Given the description of an element on the screen output the (x, y) to click on. 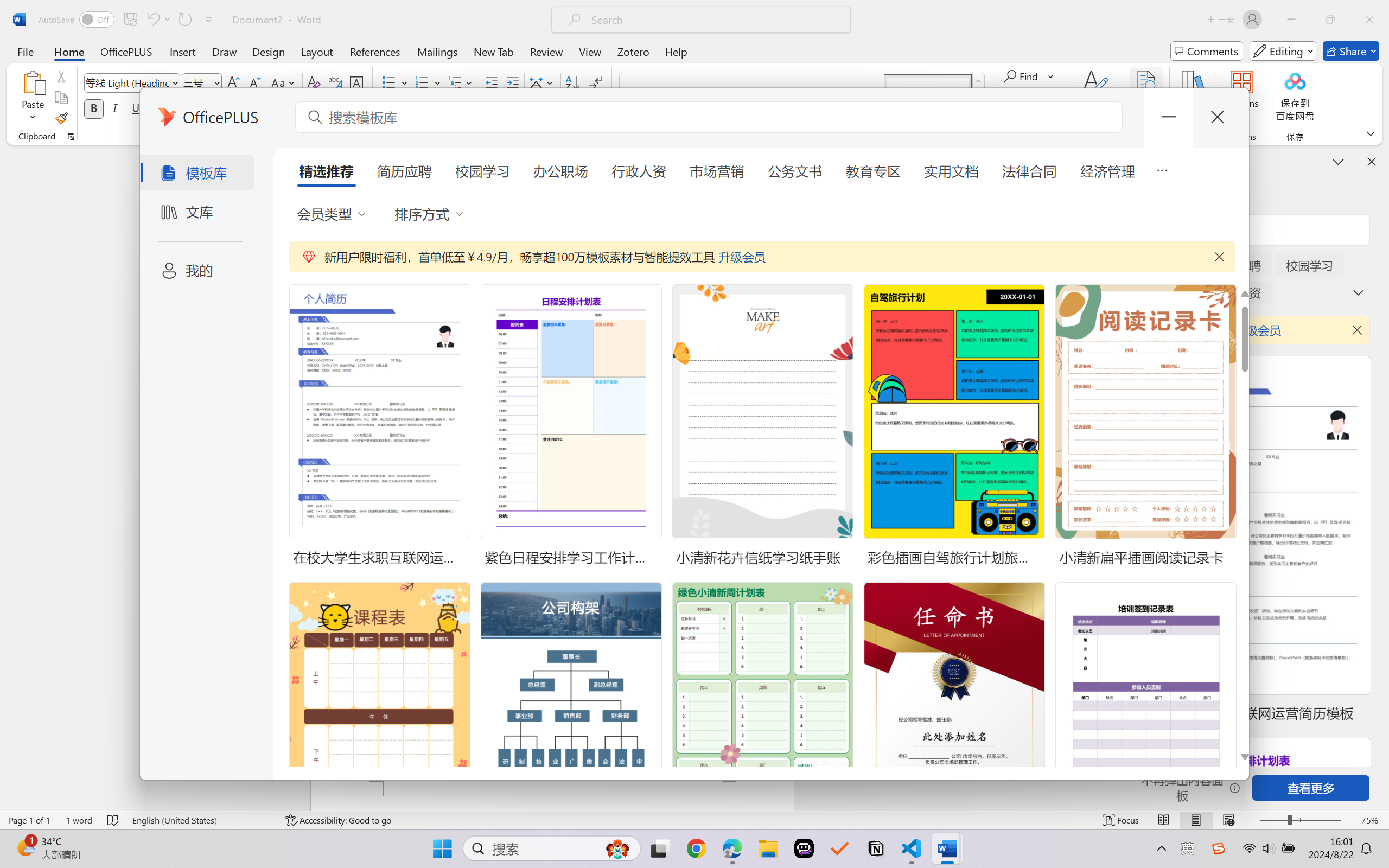
Draw (224, 51)
References (375, 51)
Close (1369, 19)
Zotero (632, 51)
Spelling and Grammar Check No Errors (113, 819)
Zoom In (1348, 819)
Cut (60, 75)
Format Painter (60, 118)
